Given the description of an element on the screen output the (x, y) to click on. 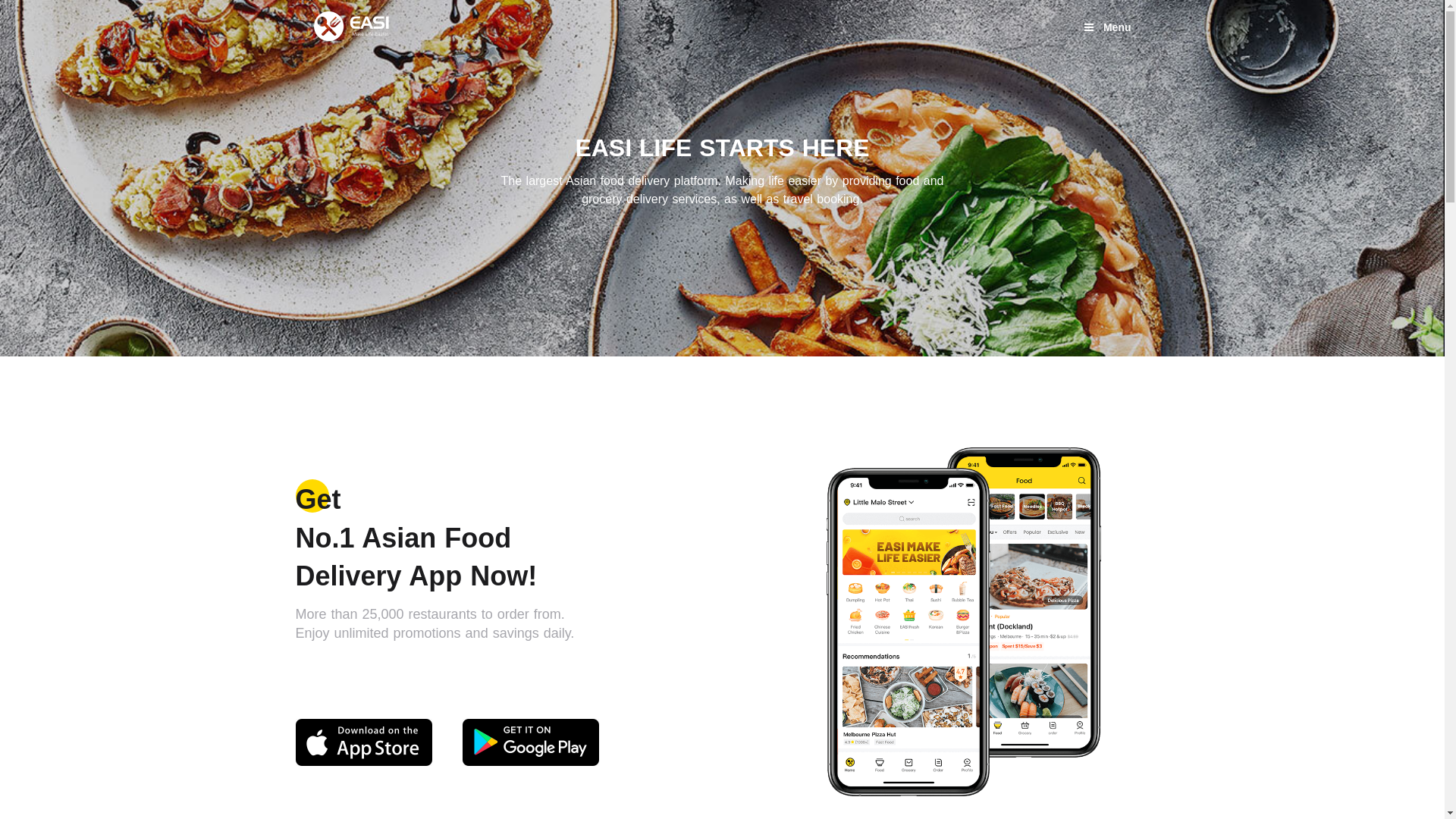
iPhone app Element type: text (363, 741)
EASI Element type: text (351, 26)
Menu Element type: text (1107, 26)
Android App Element type: text (530, 741)
